Given the description of an element on the screen output the (x, y) to click on. 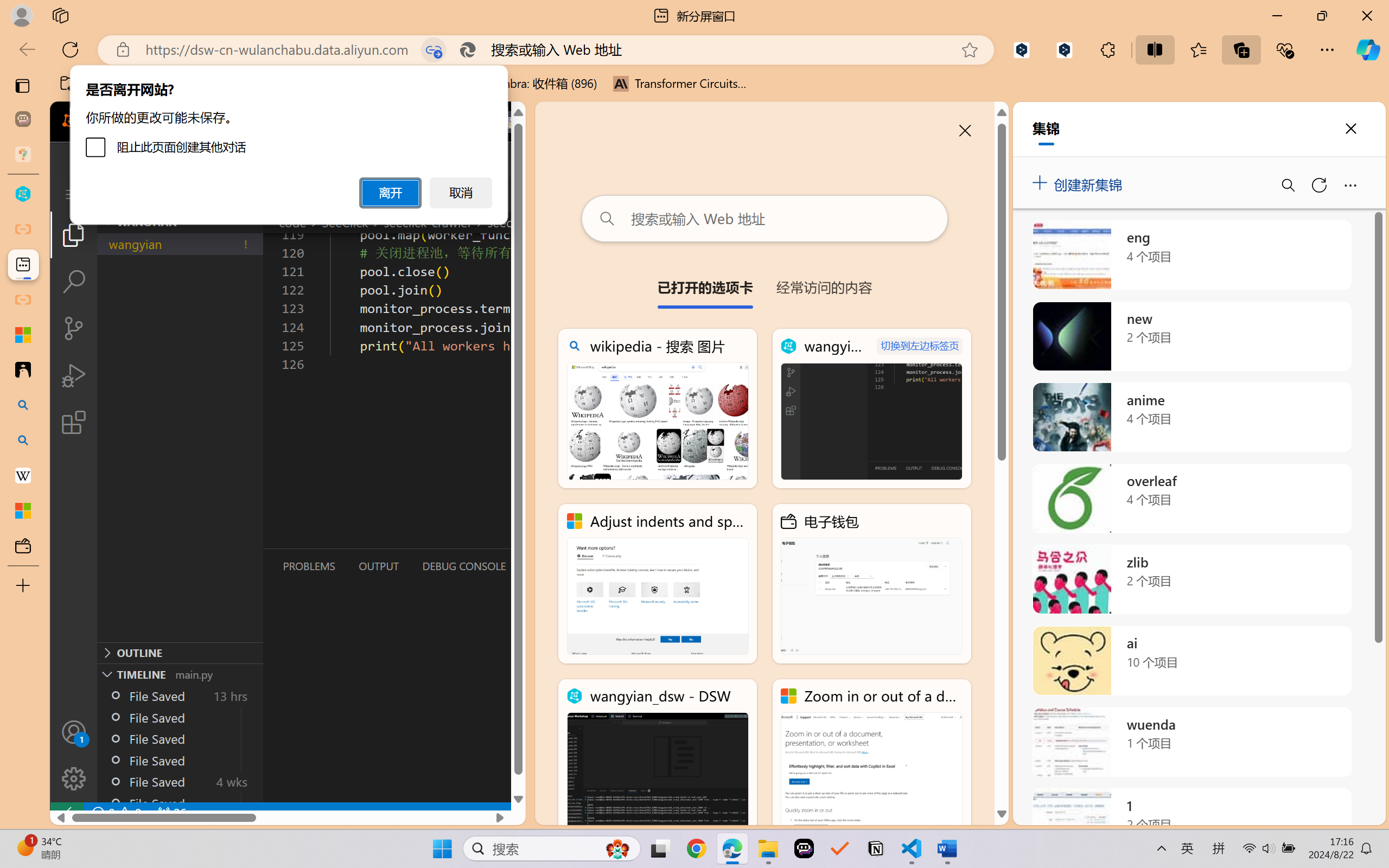
Earth - Wikipedia (22, 475)
Outline Section (179, 652)
